Given the description of an element on the screen output the (x, y) to click on. 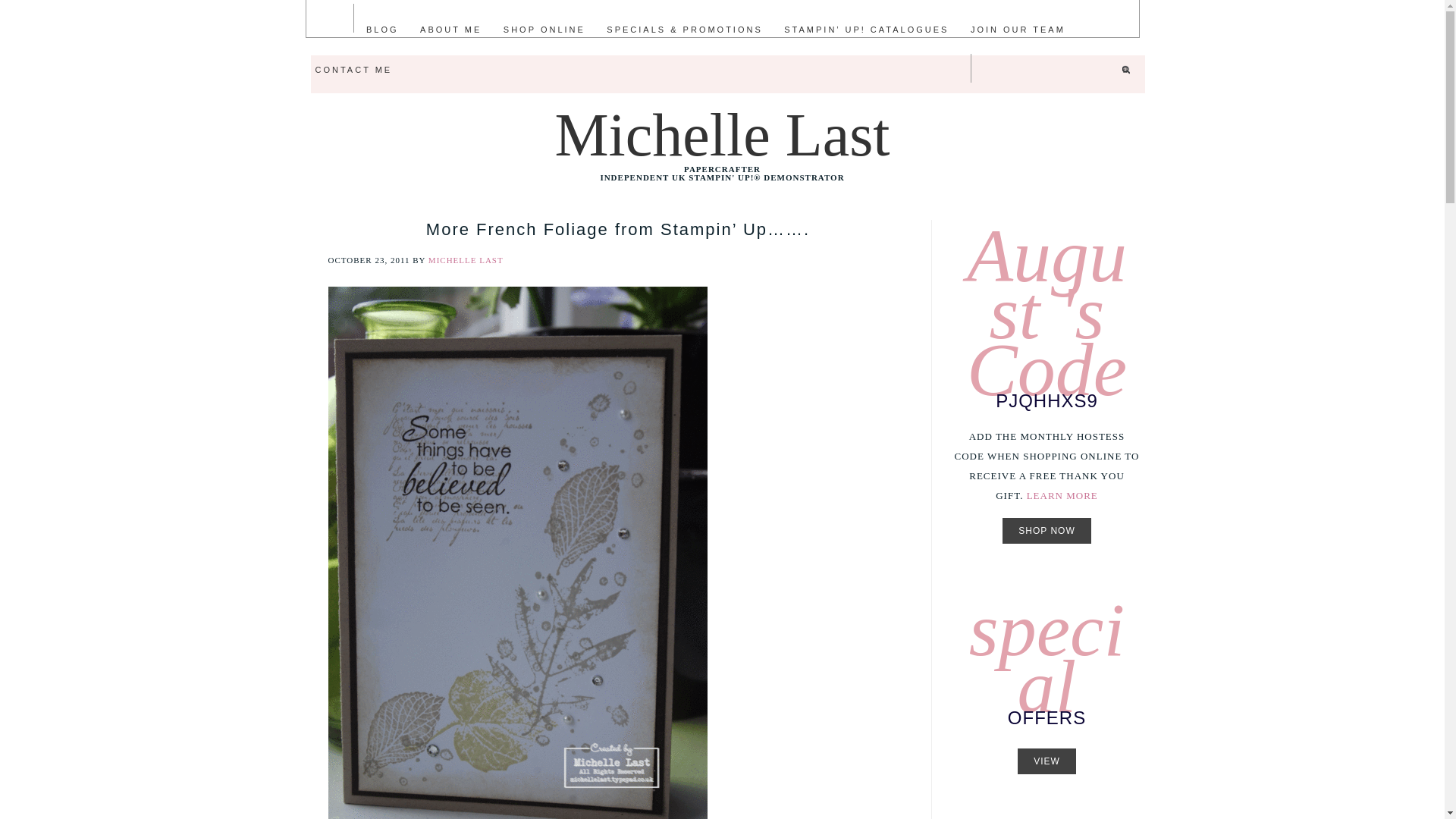
MICHELLE LAST (465, 259)
SHOP NOW (1046, 530)
LEARN MORE (1061, 495)
Michelle Last (721, 134)
ABOUT ME (450, 29)
VIEW (1046, 760)
JOIN OUR TEAM (1017, 29)
CONTACT ME (353, 69)
BLOG (381, 29)
SHOP ONLINE (544, 29)
